Given the description of an element on the screen output the (x, y) to click on. 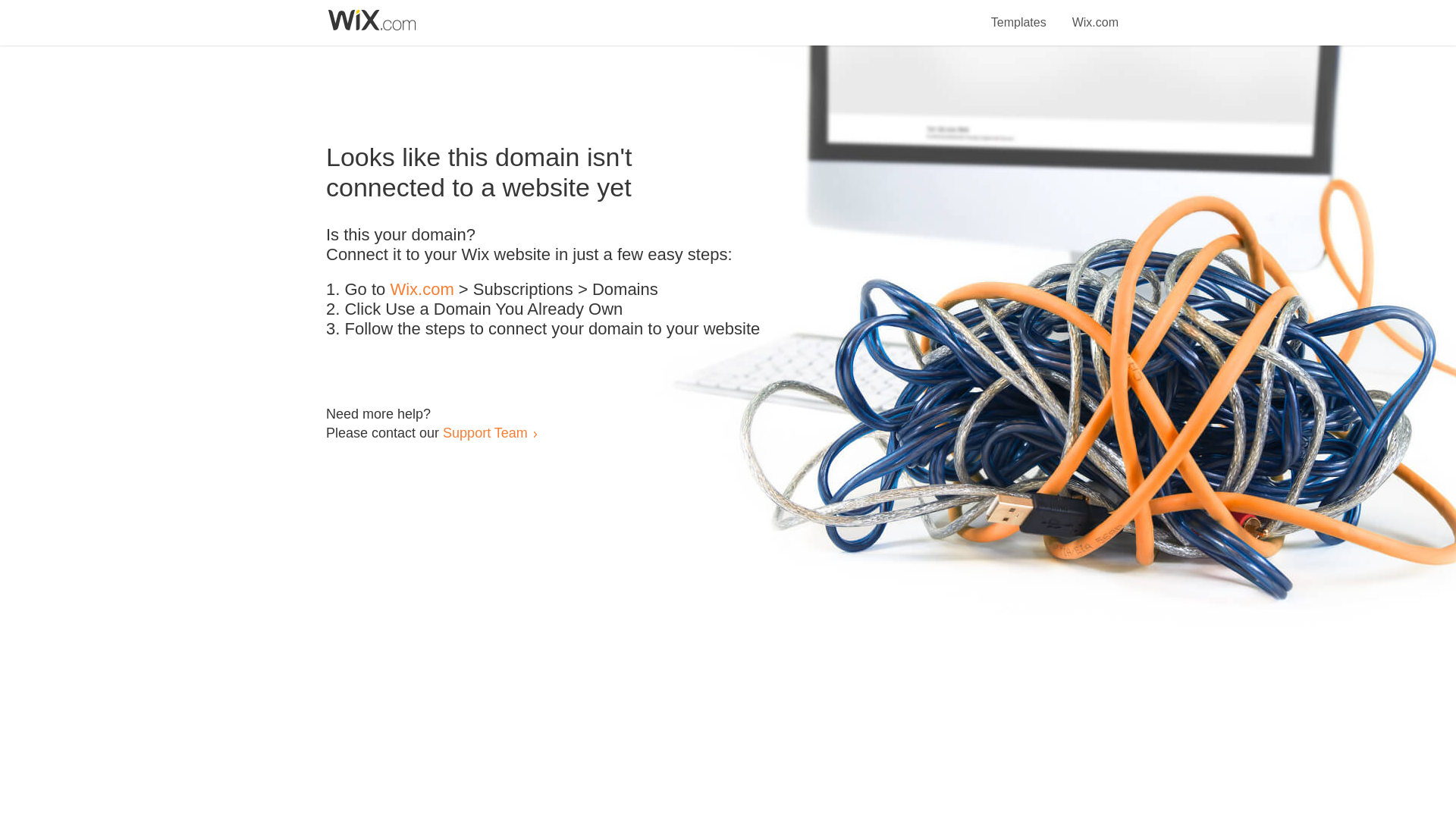
Templates (1018, 14)
Support Team (484, 432)
Wix.com (1095, 14)
Wix.com (421, 289)
